Given the description of an element on the screen output the (x, y) to click on. 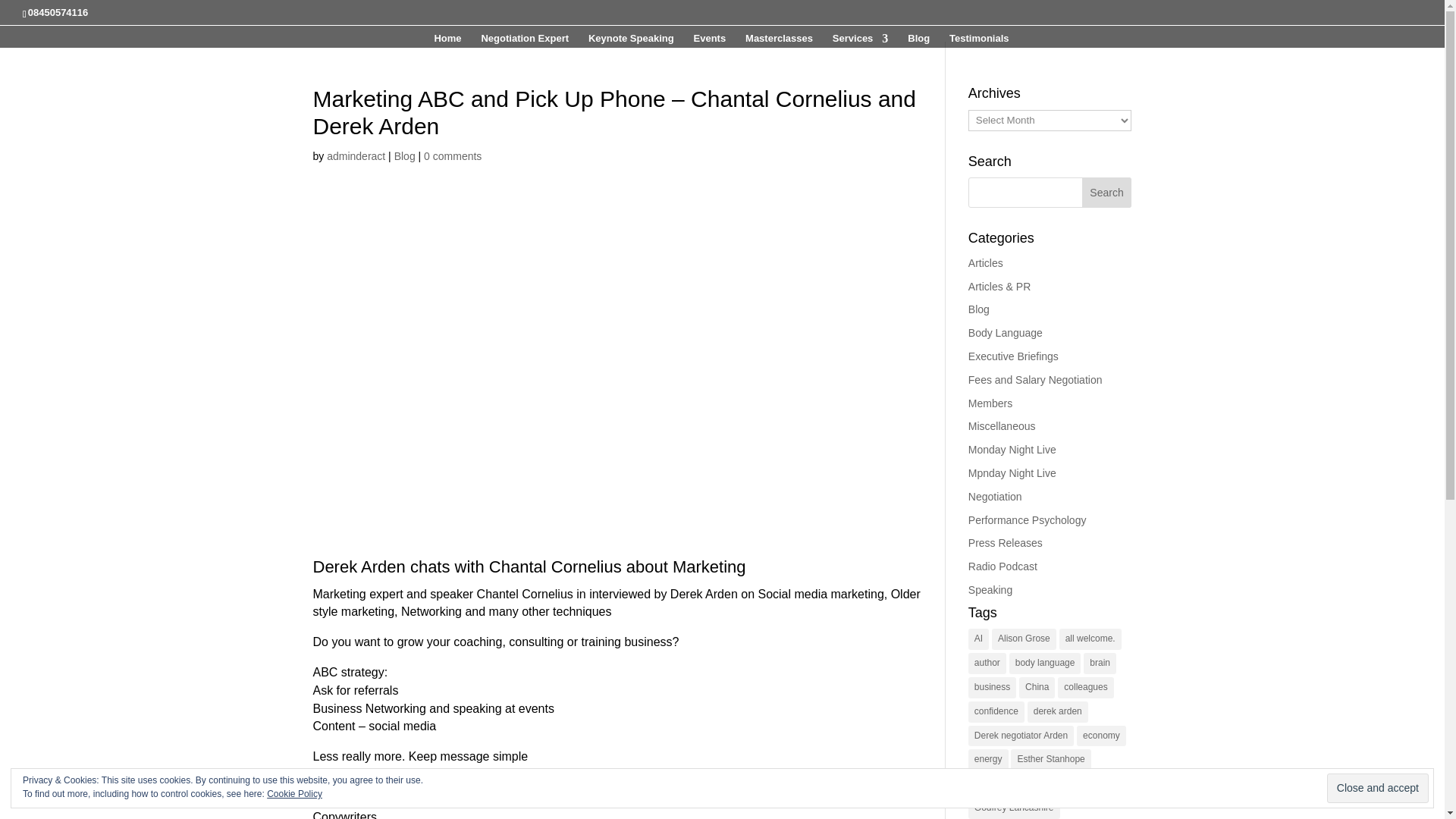
Masterclasses (778, 40)
Blog (404, 155)
Body Language (1005, 332)
Close and accept (1377, 788)
Negotiation (995, 496)
Members (989, 403)
Articles (985, 263)
Fees and Salary Negotiation (1035, 379)
Posts by adminderact (355, 155)
Events (710, 40)
Testimonials (979, 40)
Negotiation Expert (524, 40)
Services (860, 40)
Monday Night Live (1012, 449)
Search (1106, 192)
